Given the description of an element on the screen output the (x, y) to click on. 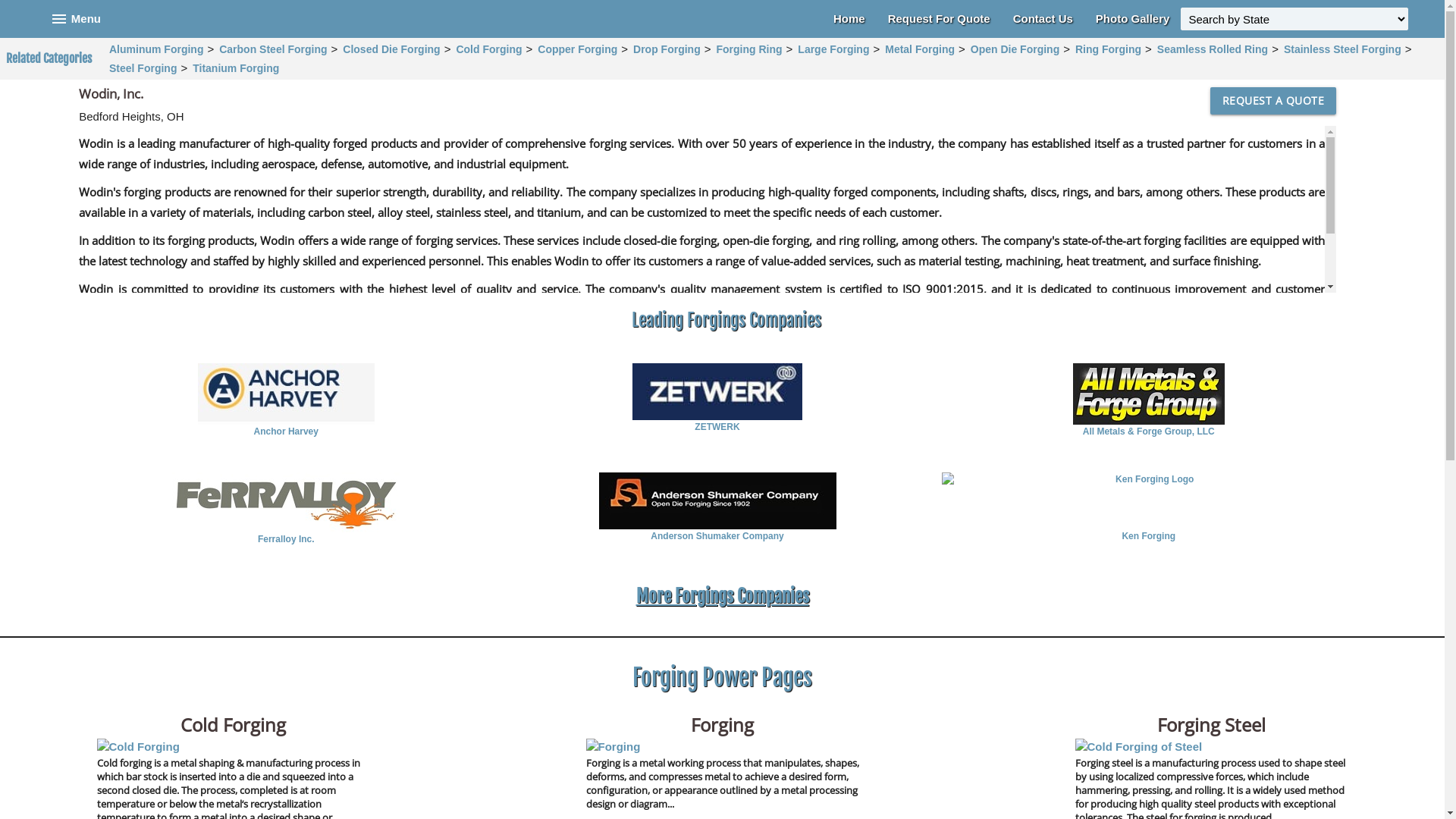
Stainless Steel Forging Element type: text (1342, 49)
Anderson Shumaker Company Element type: text (717, 535)
Anchor Harvey Element type: text (285, 431)
Anchor Harvey Logo Element type: hover (285, 393)
Ken Forging Element type: text (1148, 535)
All Metals & Forge Group, LLC Element type: text (1148, 431)
More Forgings Companies Element type: text (721, 596)
Home Element type: text (849, 18)
Contact Us Element type: text (1042, 18)
All Metals & Forge Group, LLC Logo Element type: hover (1148, 393)
Large Forging Element type: text (832, 49)
Metal Forging Element type: text (919, 49)
Ferralloy Inc. Logo Element type: hover (285, 502)
Photo Gallery Element type: text (1132, 18)
Forging Ring Element type: text (748, 49)
REQUEST A QUOTE Element type: text (1273, 100)
Steel Forging Element type: text (142, 67)
Cold Forging Element type: hover (138, 747)
Forging Element type: hover (612, 747)
Cold Forging Element type: text (488, 49)
menu
 Menu Element type: text (75, 18)
ZETWERK Element type: text (717, 426)
Copper Forging Element type: text (577, 49)
Ferralloy Inc. Element type: text (285, 539)
Carbon Steel Forging Element type: text (272, 49)
Titanium Forging Element type: text (235, 67)
Seamless Rolled Ring Element type: text (1212, 49)
Anderson Shumaker Company Logo Element type: hover (717, 500)
Request For Quote Element type: text (938, 18)
Cold Forging of Steel Element type: hover (1138, 747)
Closed Die Forging Element type: text (390, 49)
Ring Forging Element type: text (1108, 49)
ZETWERK Logo Element type: hover (717, 391)
Ken Forging Logo Element type: hover (1148, 500)
Drop Forging Element type: text (666, 49)
Open Die Forging Element type: text (1014, 49)
Aluminum Forging Element type: text (156, 49)
